Given the description of an element on the screen output the (x, y) to click on. 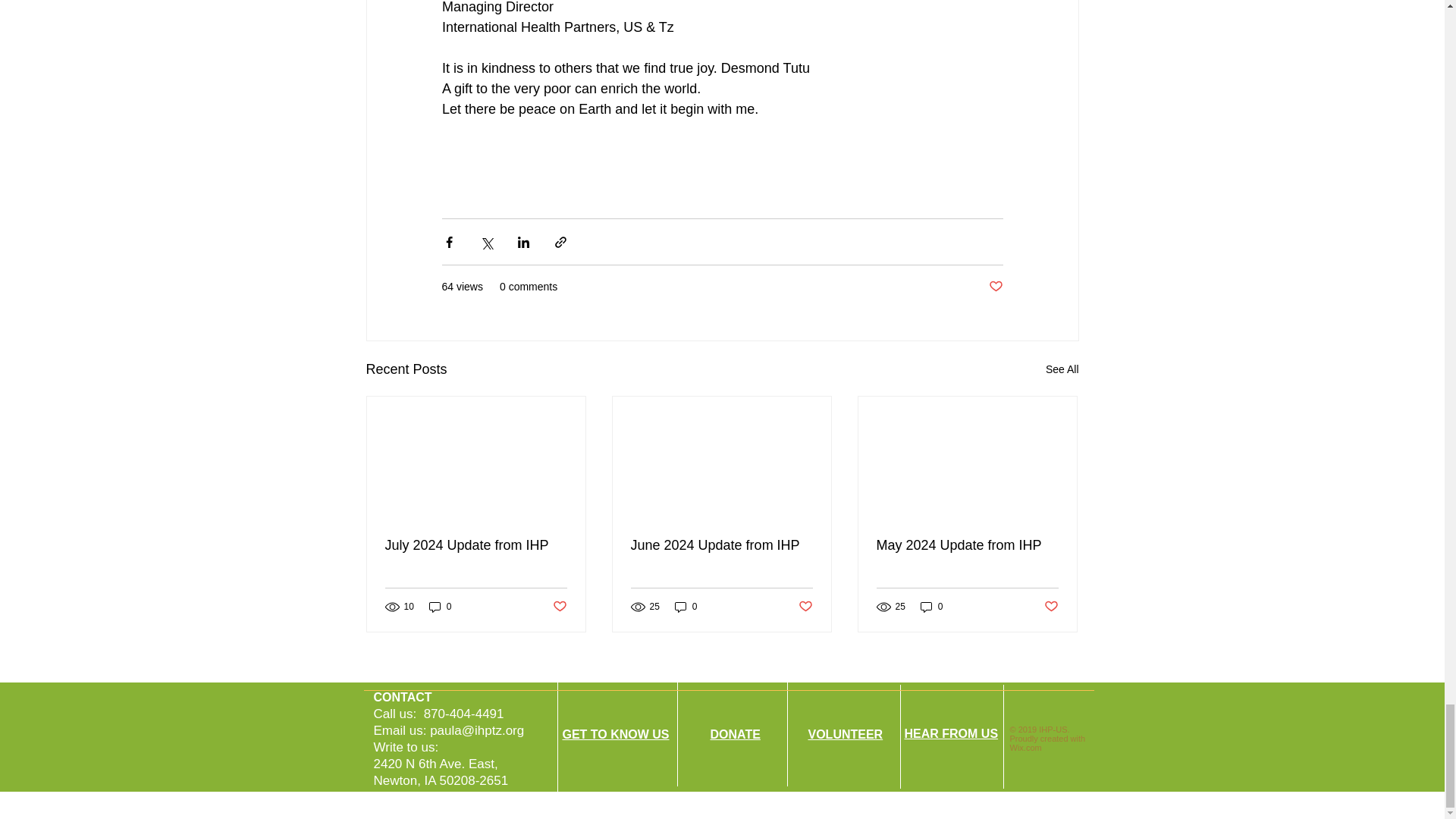
Post not marked as liked (1050, 606)
June 2024 Update from IHP (721, 545)
Post not marked as liked (995, 286)
0 (931, 606)
May 2024 Update from IHP (967, 545)
July 2024 Update from IHP (476, 545)
Wix.com (1026, 747)
GET TO KNOW US (615, 734)
See All (1061, 369)
DONATE (735, 734)
0 (685, 606)
0 (440, 606)
VOLUNTEER (845, 734)
HEAR FROM US (950, 733)
Post not marked as liked (558, 606)
